Given the description of an element on the screen output the (x, y) to click on. 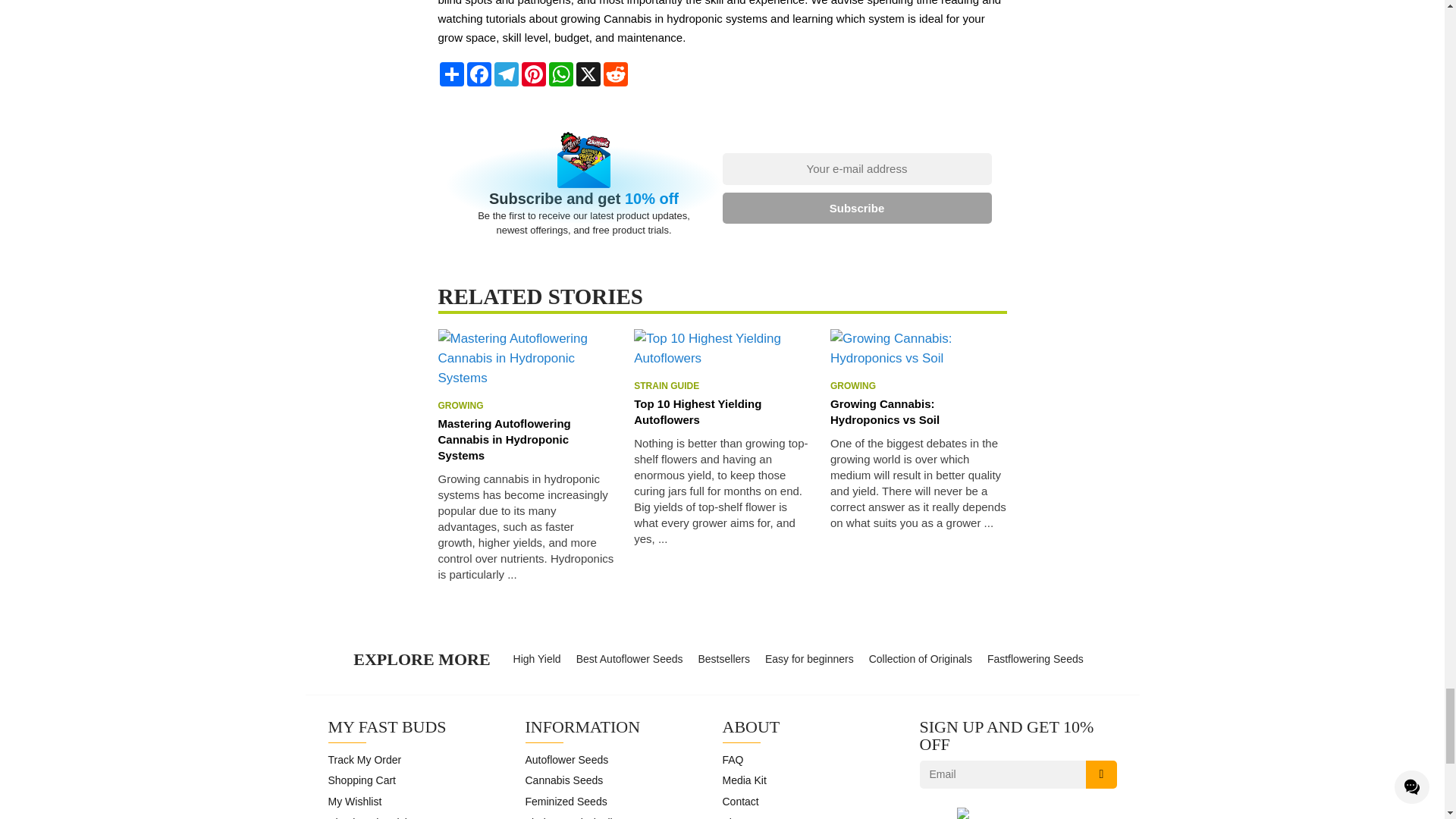
Mastering Autoflowering Cannabis in Hydroponic Systems (526, 439)
Top 10 Highest Yielding Autoflowers (721, 348)
Mastering Autoflowering Cannabis in Hydroponic Systems (526, 358)
Top 10 Highest Yielding Autoflowers (721, 411)
Growing Cannabis: Hydroponics vs Soil (918, 348)
Mastering Autoflowering Cannabis in Hydroponic Systems (526, 526)
Top 10 Highest Yielding Autoflowers (721, 490)
Growing Cannabis: Hydroponics vs Soil (918, 411)
